Given the description of an element on the screen output the (x, y) to click on. 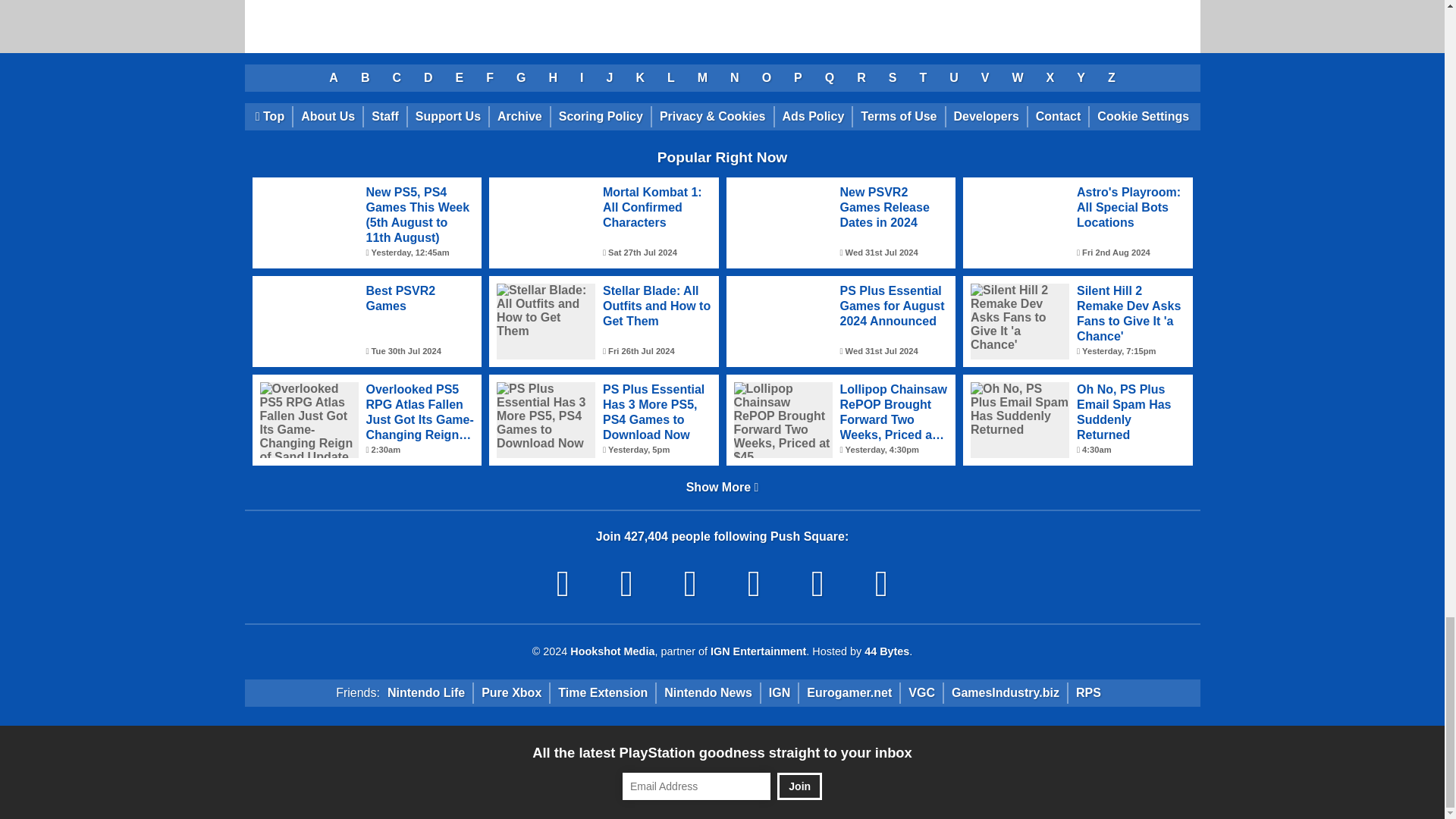
Join (799, 786)
